Given the description of an element on the screen output the (x, y) to click on. 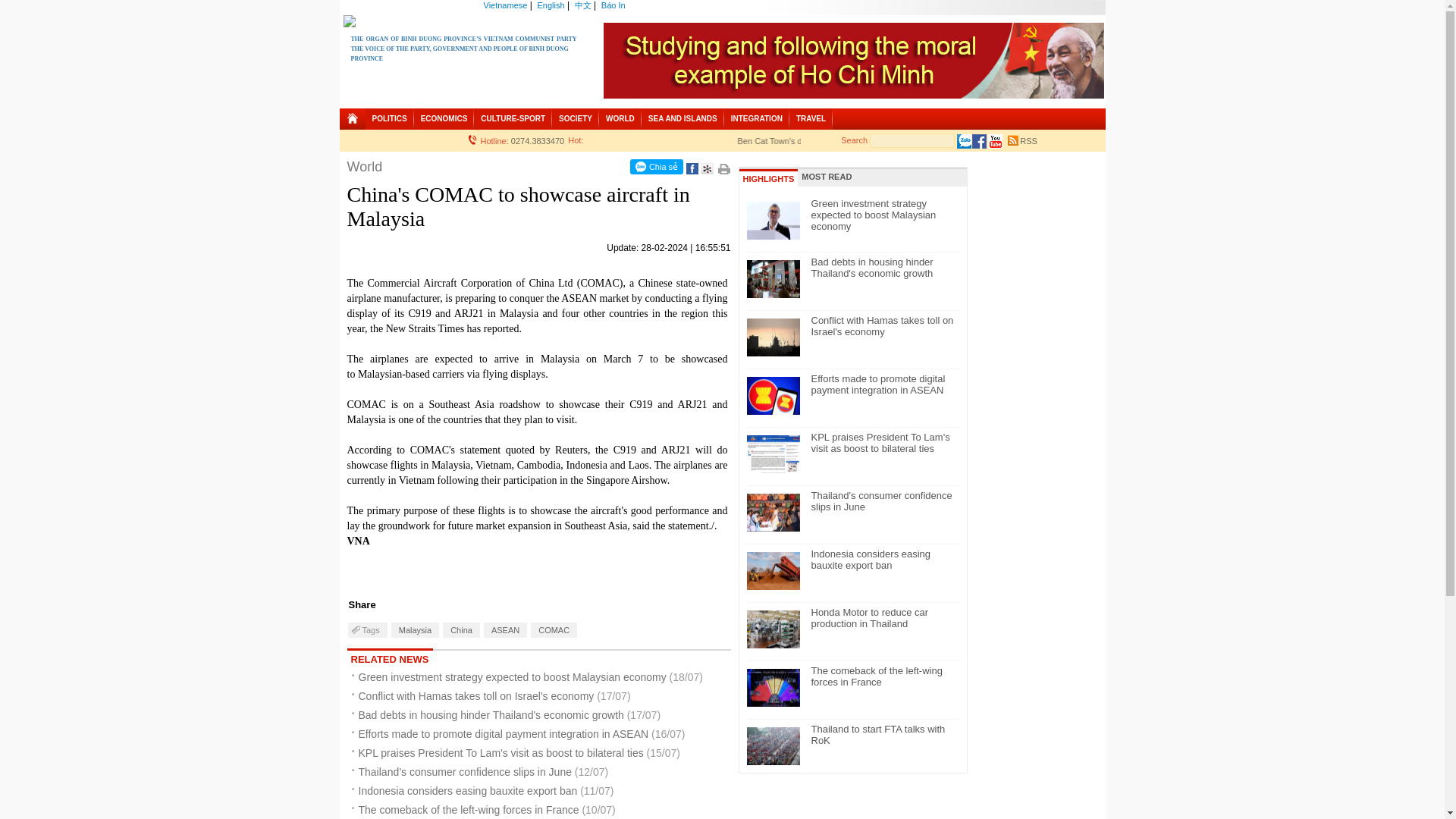
WORLD (620, 118)
ASEAN (505, 630)
TRAVEL (810, 118)
Hotline: 0274.3833470 (516, 137)
Share post on facebook (691, 171)
RSS (1021, 137)
COMAC (553, 630)
ASEAN (505, 630)
ECONOMICS (443, 118)
INTEGRATION (756, 118)
Vietnamese (505, 4)
CULTURE-SPORT (512, 118)
China (461, 630)
Malaysia (415, 630)
English (550, 4)
